Given the description of an element on the screen output the (x, y) to click on. 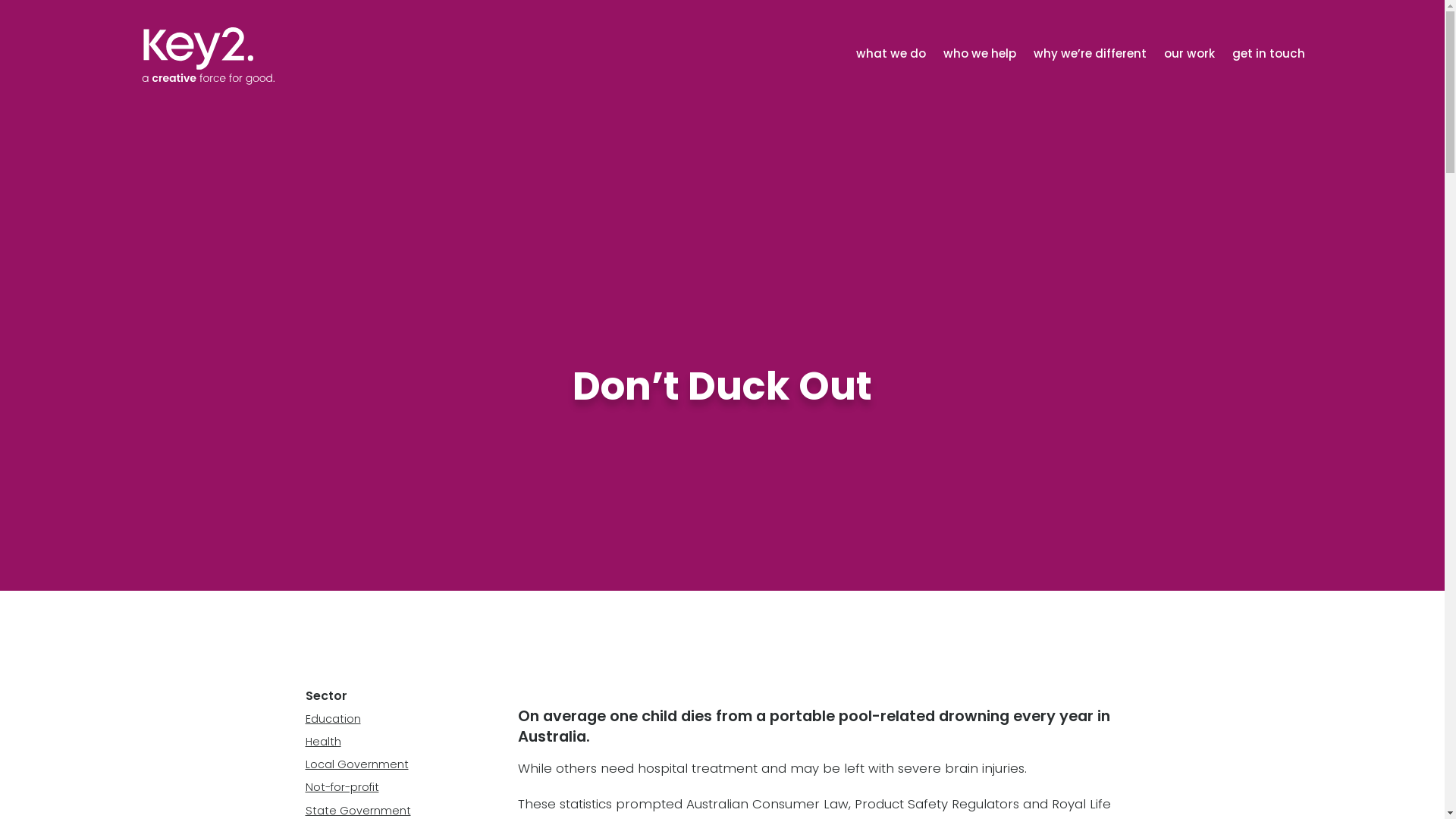
our work Element type: text (1180, 56)
get in touch Element type: text (1259, 56)
who we help Element type: text (970, 56)
Not-for-profit Element type: text (386, 787)
what we do Element type: text (882, 56)
Local Government Element type: text (386, 764)
Key2, a creative force for good Element type: text (209, 57)
Health Element type: text (386, 741)
Education Element type: text (386, 719)
